Given the description of an element on the screen output the (x, y) to click on. 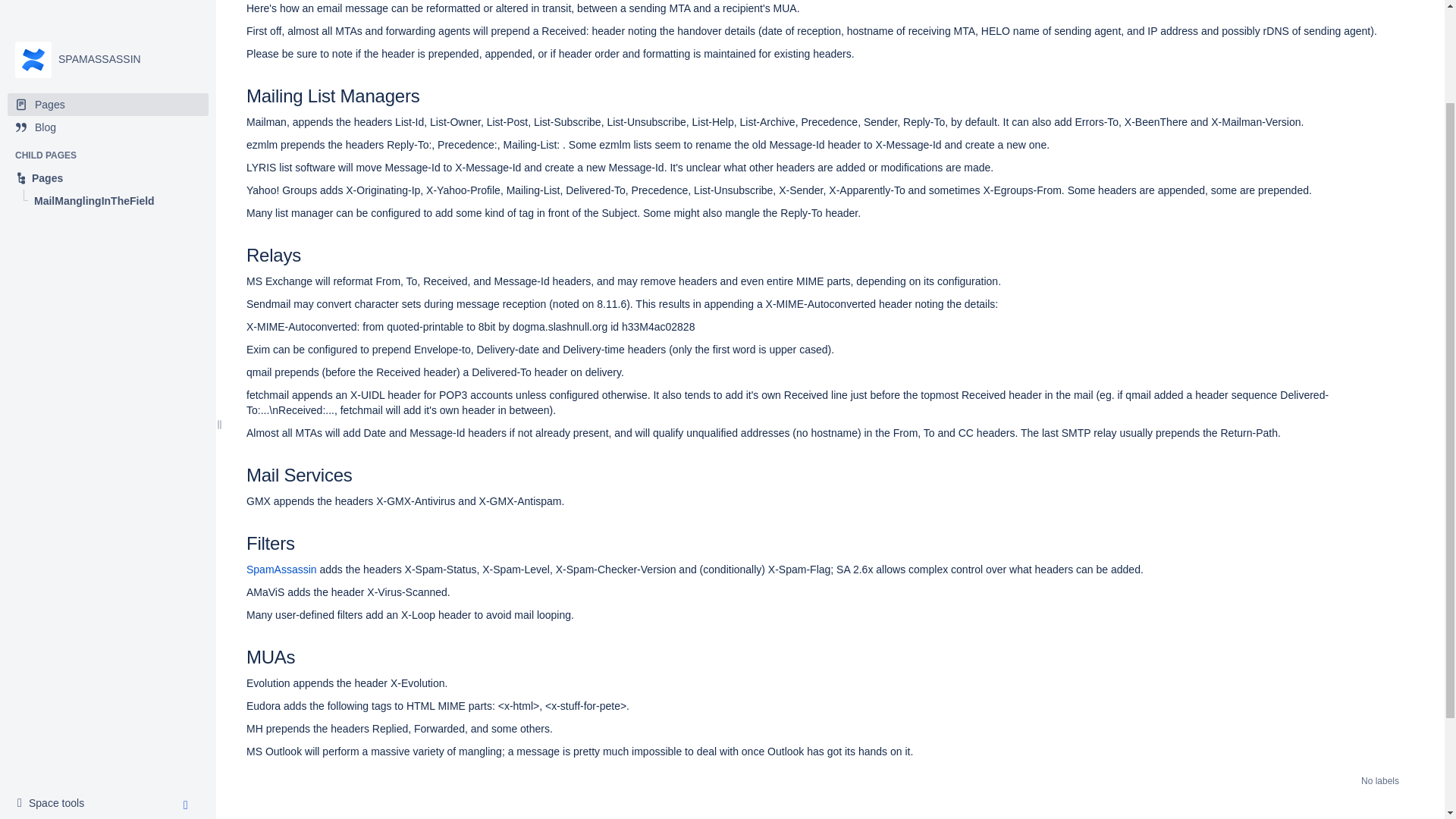
Blog (54, 681)
Pages (107, 8)
Pages (107, 56)
